Given the description of an element on the screen output the (x, y) to click on. 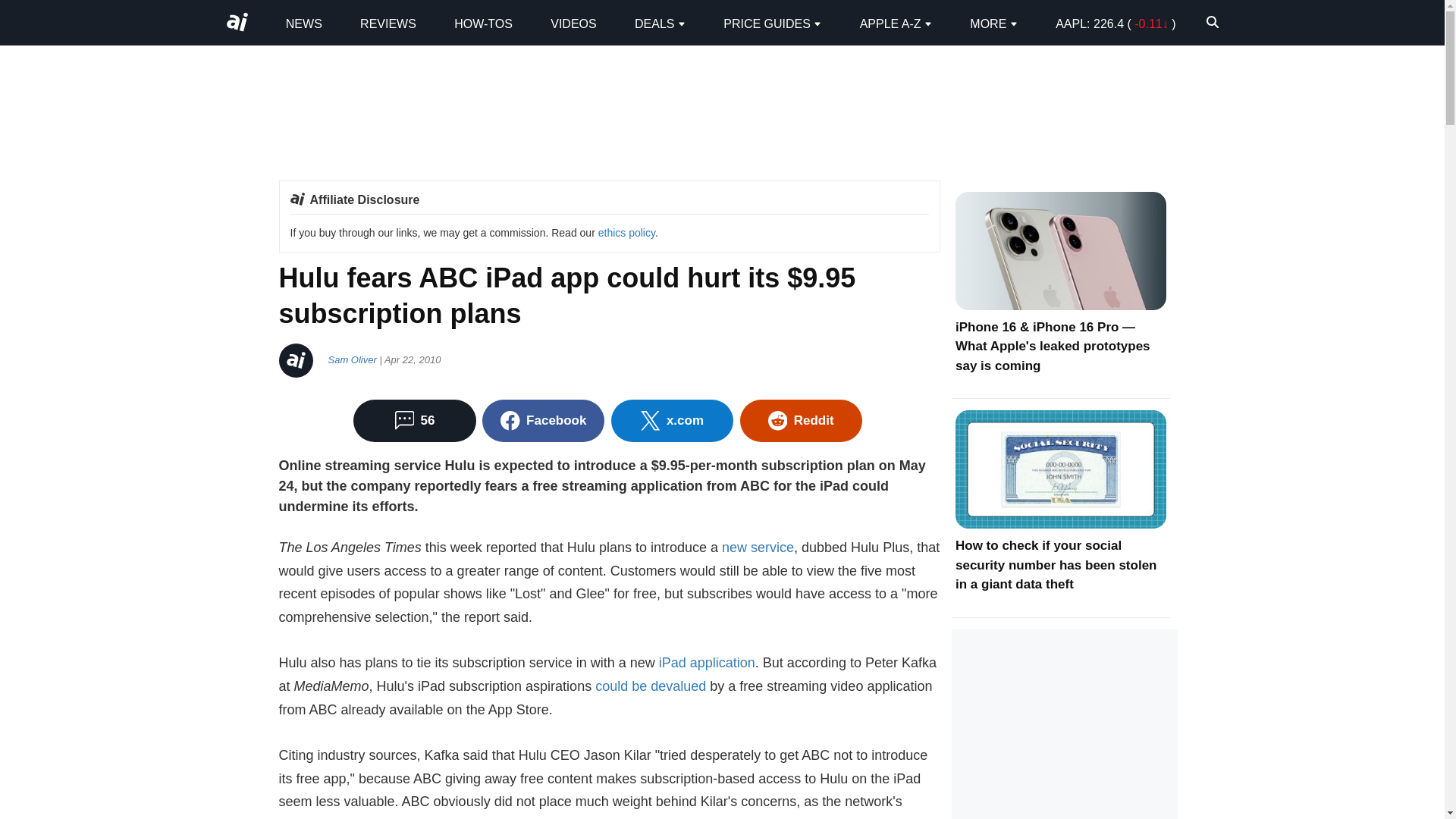
NEWS (303, 23)
News (303, 23)
How-Tos (483, 23)
Videos (572, 23)
HOW-TOS (483, 23)
Reviews (387, 23)
VIDEOS (572, 23)
REVIEWS (387, 23)
